Given the description of an element on the screen output the (x, y) to click on. 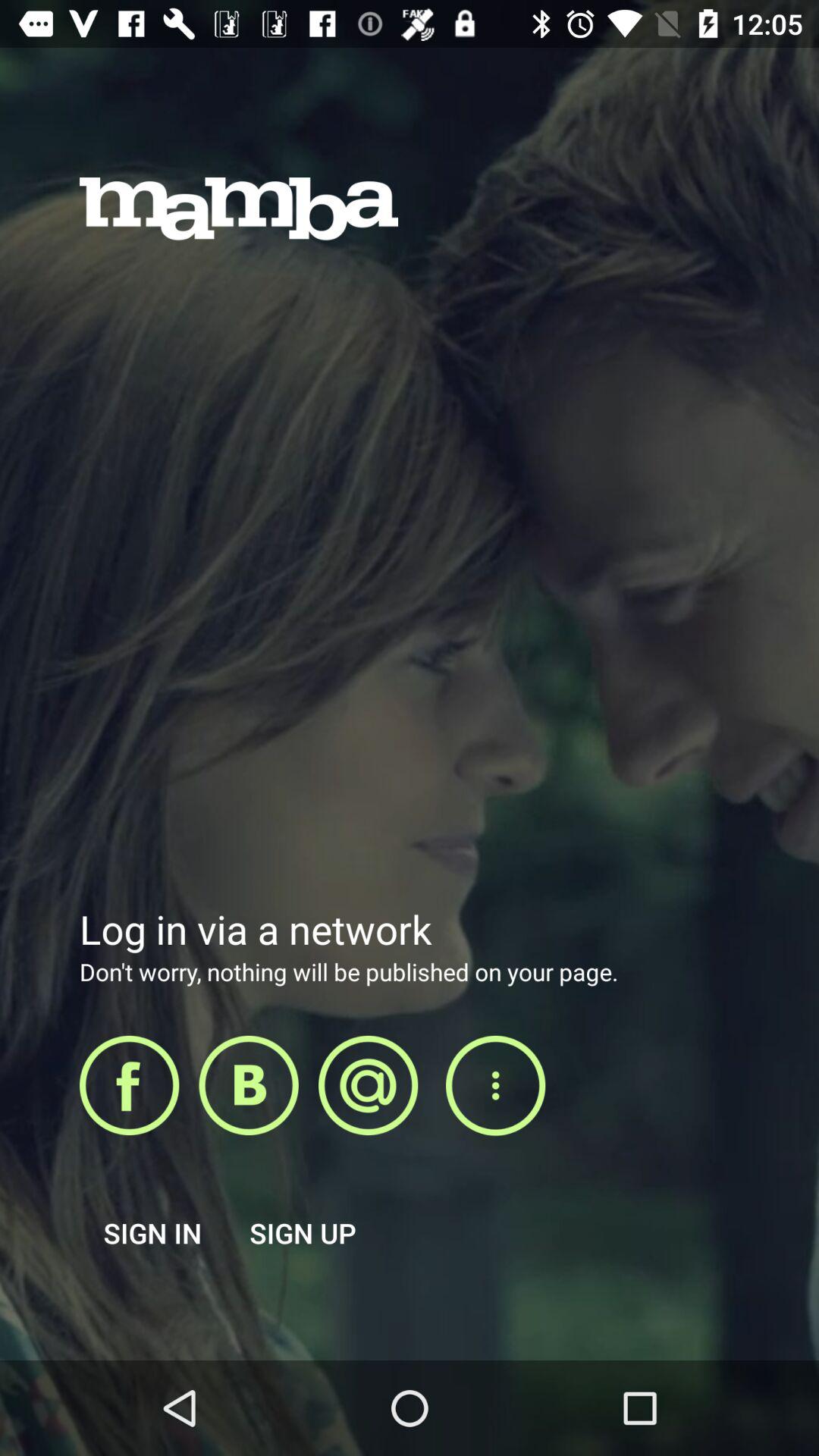
login with facebook (129, 1085)
